Given the description of an element on the screen output the (x, y) to click on. 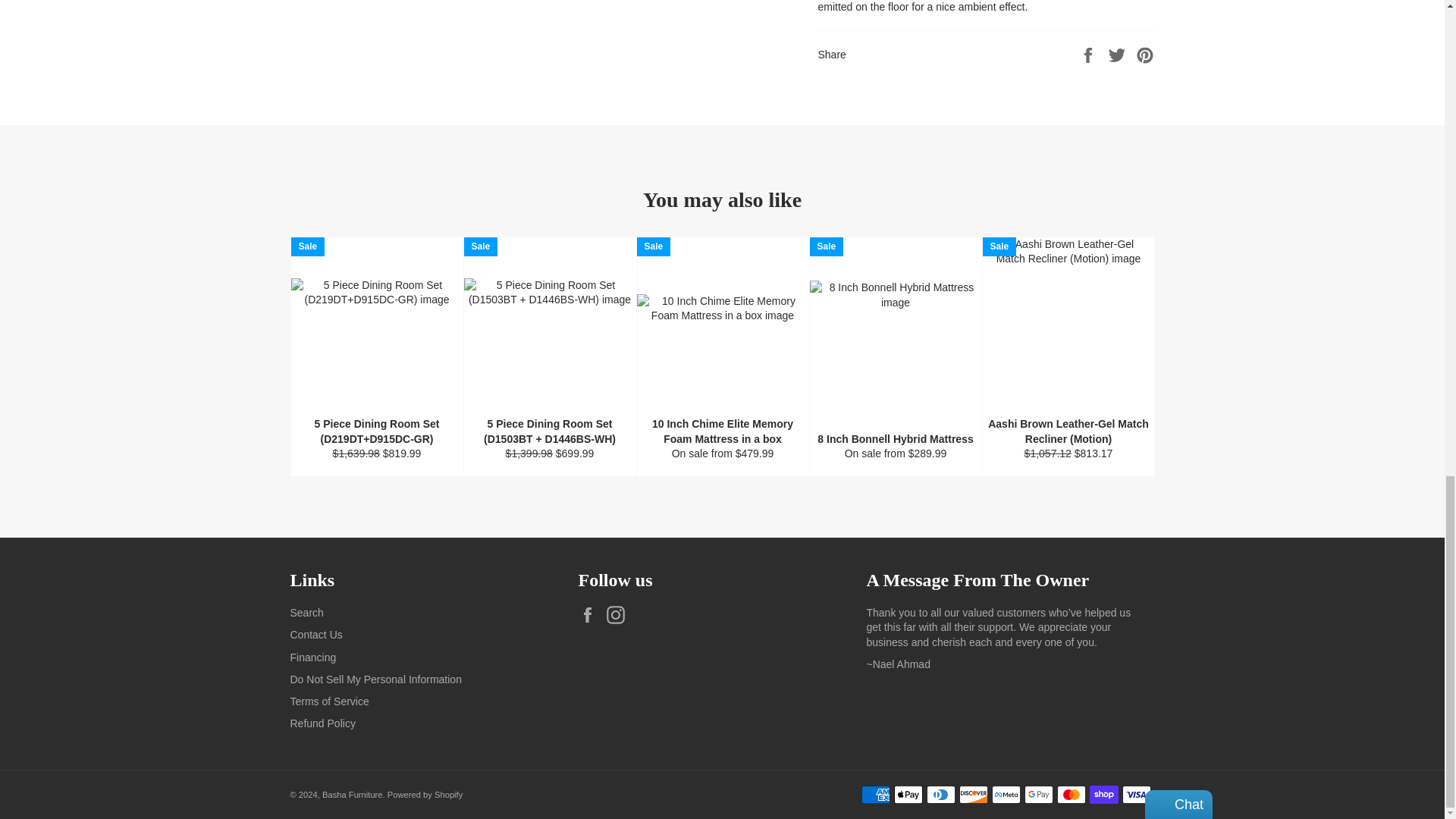
Basha Furniture on Facebook (591, 615)
Share on Facebook (1089, 53)
Pin on Pinterest (1144, 53)
Tweet on Twitter (1118, 53)
Basha Furniture on Instagram (619, 615)
